Given the description of an element on the screen output the (x, y) to click on. 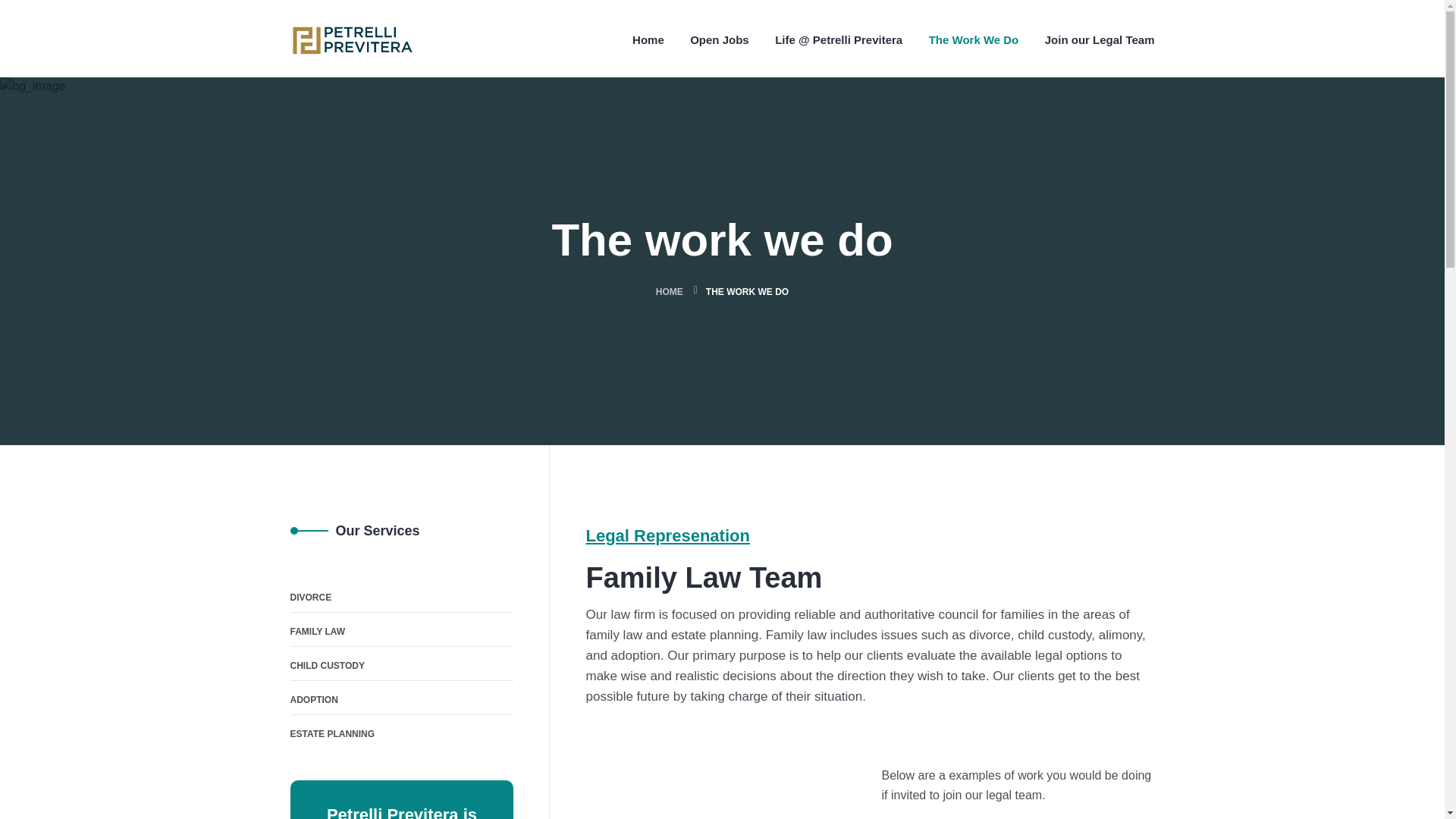
DIVORCE (310, 597)
ADOPTION (313, 699)
The Work We Do (973, 39)
HOME (669, 291)
Join our Legal Team (1099, 39)
Open Jobs (719, 39)
CHILD CUSTODY (326, 665)
Home (647, 39)
FAMILY LAW (317, 631)
ESTATE PLANNING (331, 733)
